Given the description of an element on the screen output the (x, y) to click on. 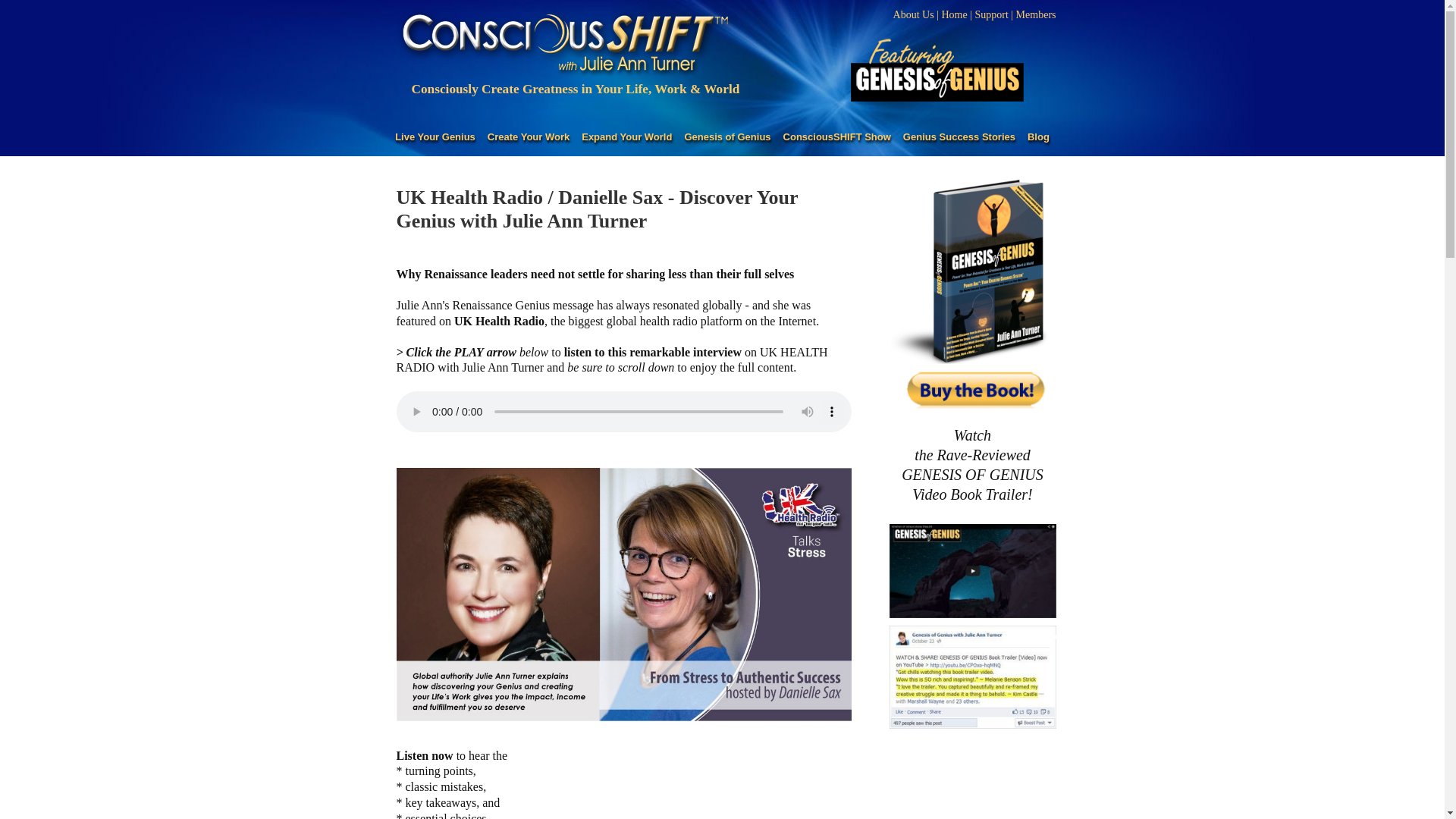
Live Your Genius (434, 137)
ConsciousSHIFT Show (836, 137)
Create Your Work (528, 137)
Members (1036, 14)
Genius Success Stories (959, 137)
About Us (913, 14)
Blog (1038, 137)
Genesis of Genius (727, 137)
Support (990, 14)
Home (954, 14)
